Given the description of an element on the screen output the (x, y) to click on. 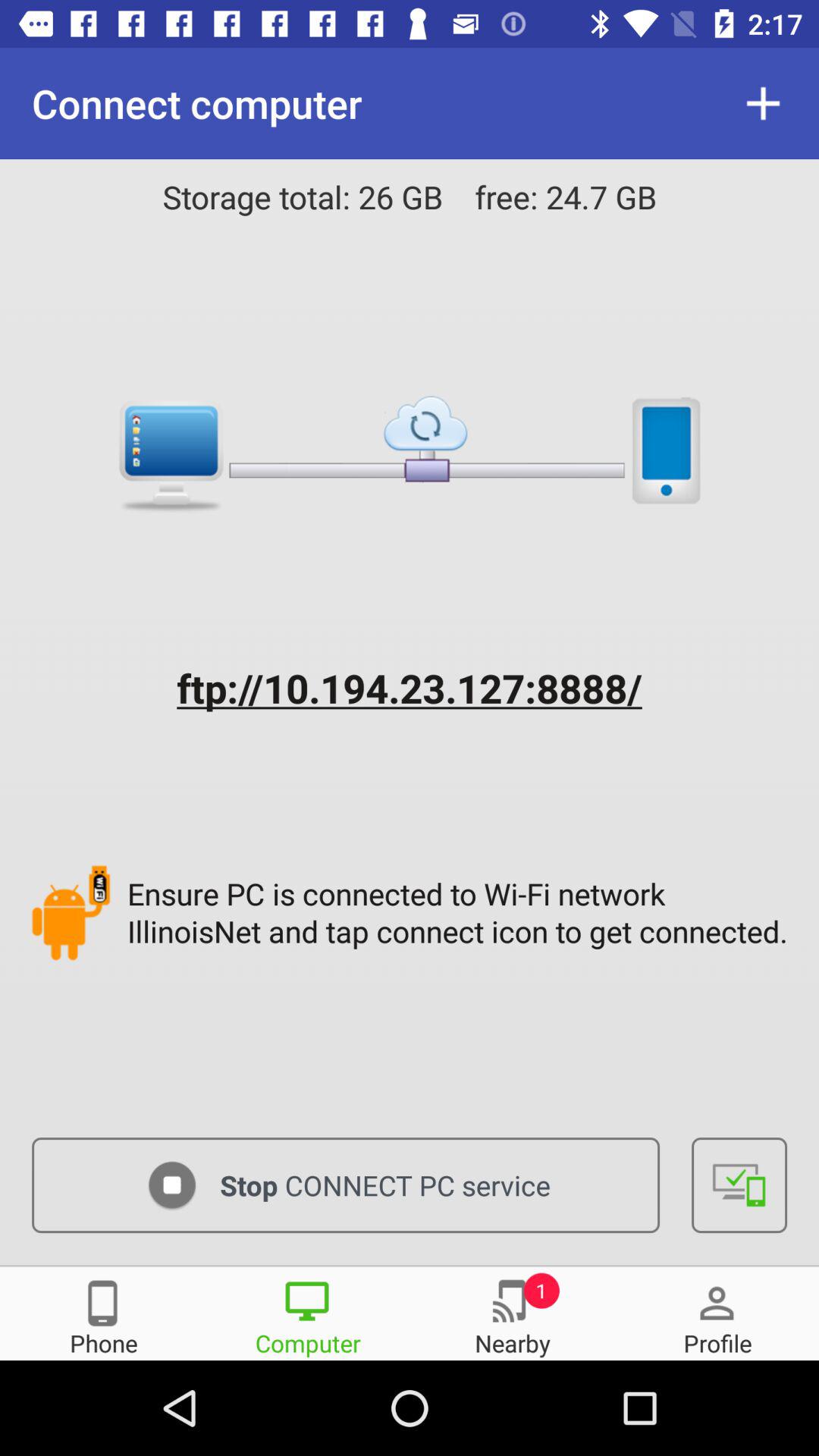
swipe until the ensure pc is (461, 912)
